Given the description of an element on the screen output the (x, y) to click on. 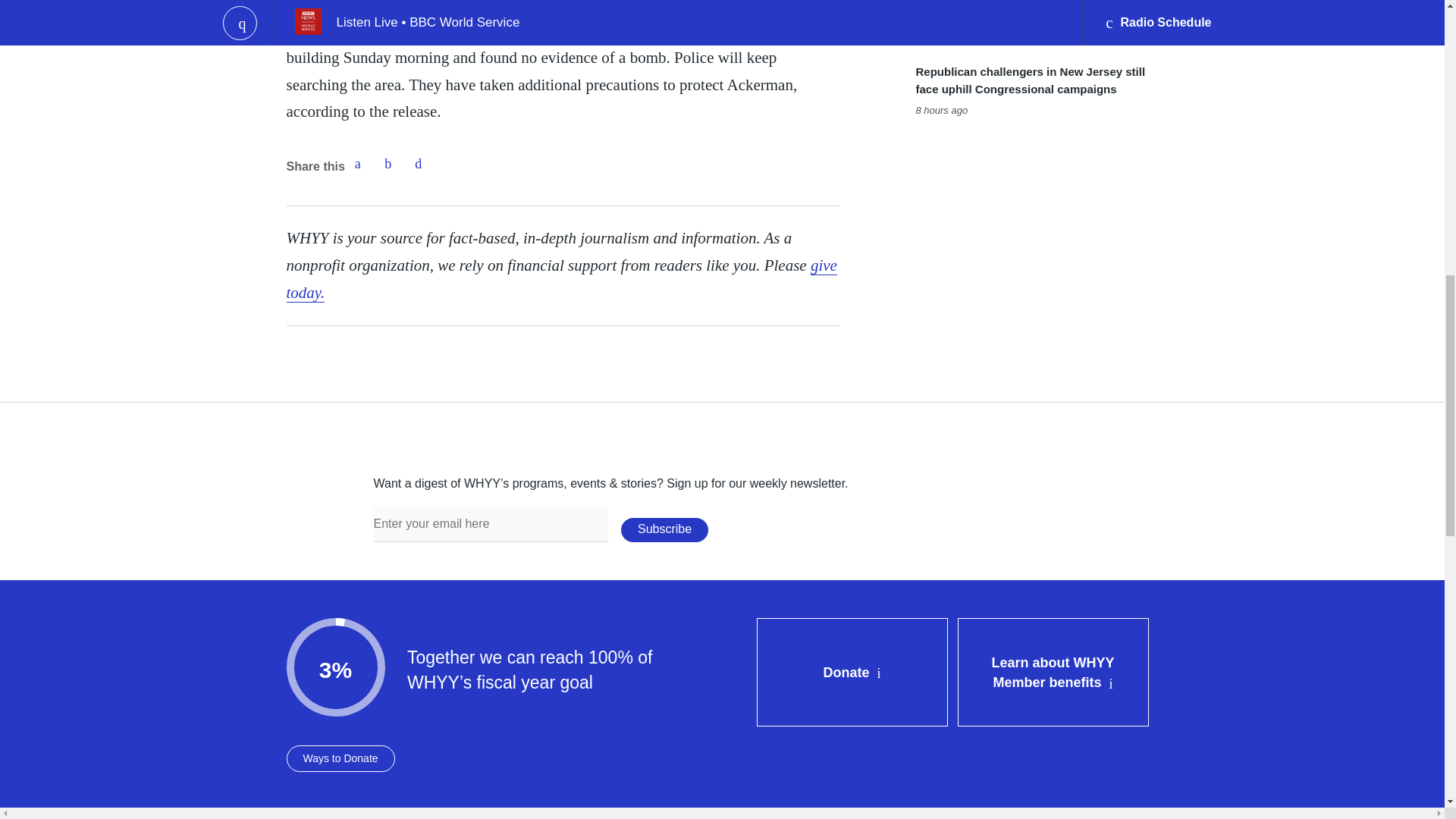
Facebook (357, 163)
Subscribe (664, 529)
Twitter (387, 163)
Email (418, 163)
